Given the description of an element on the screen output the (x, y) to click on. 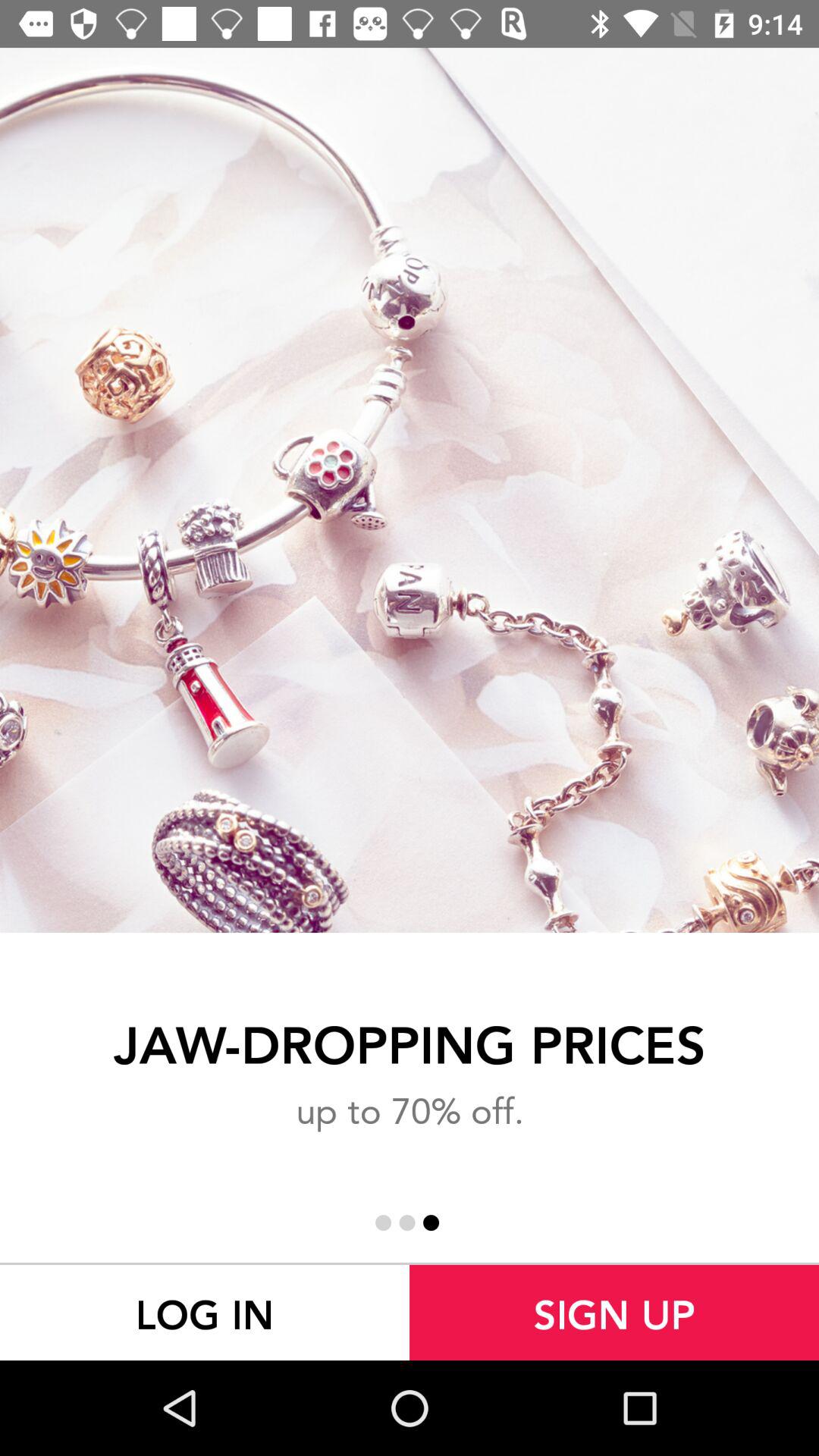
launch the log in at the bottom left corner (204, 1312)
